Given the description of an element on the screen output the (x, y) to click on. 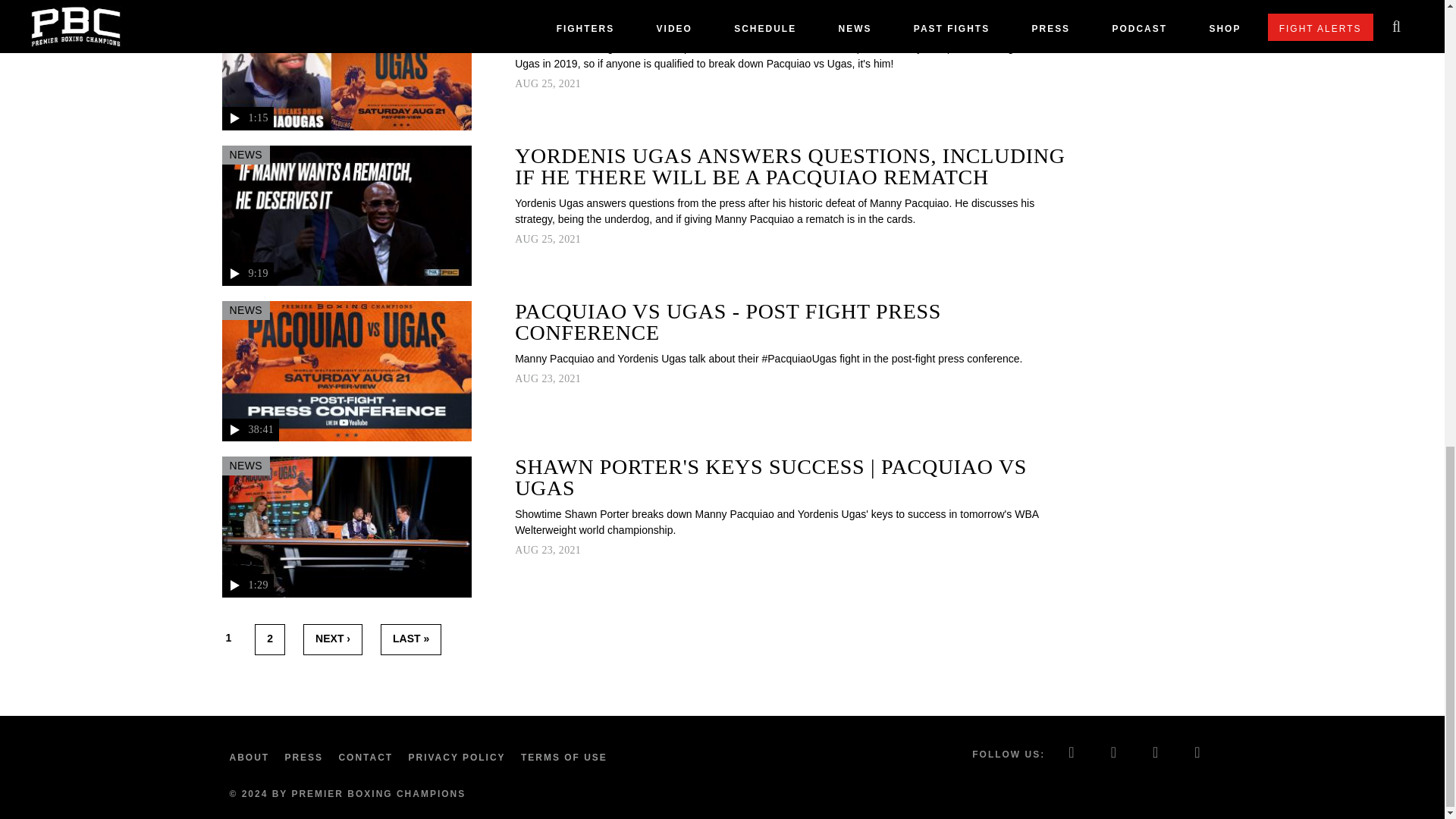
August (526, 238)
August (526, 378)
August (526, 83)
